Given the description of an element on the screen output the (x, y) to click on. 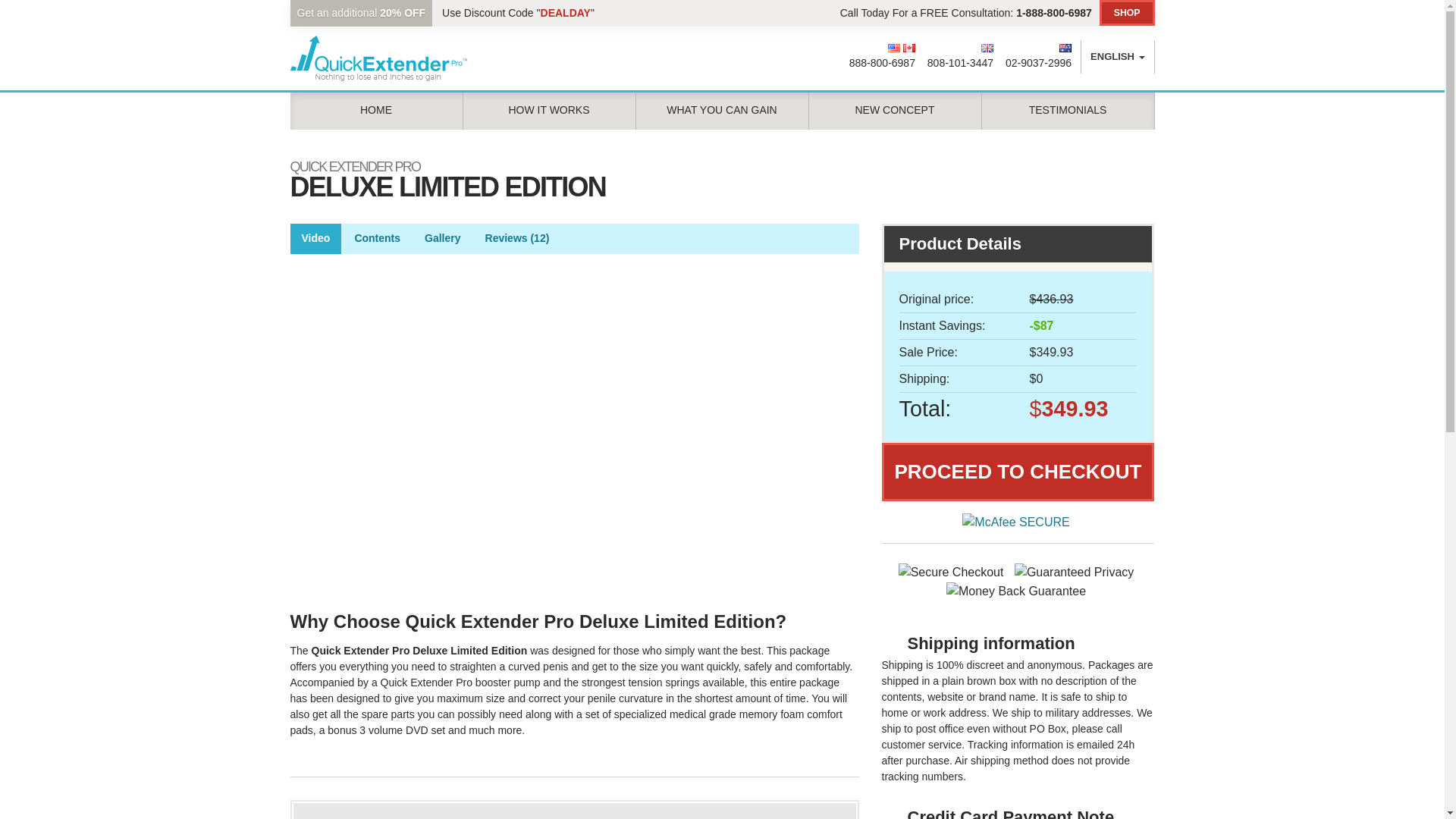
Video (314, 238)
HOME (376, 109)
ENGLISH (1117, 56)
NEW CONCEPT (894, 109)
Penis Extender for Penis Enlargement (377, 56)
Get Yours Today! (1126, 12)
Home (376, 109)
Contents (377, 238)
Gallery (442, 238)
SHOP (1126, 12)
